Given the description of an element on the screen output the (x, y) to click on. 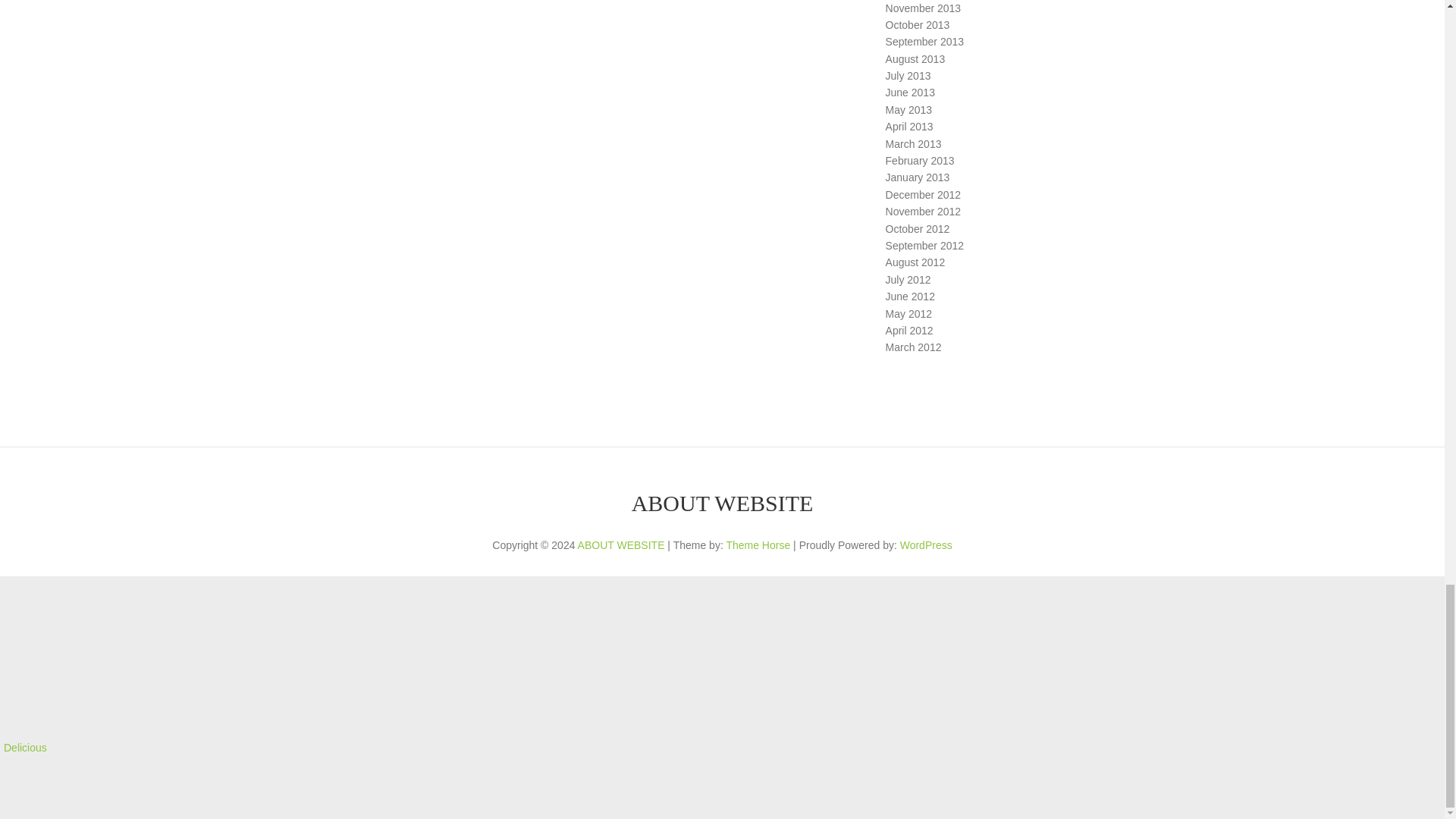
ABOUT WEBSITE (722, 503)
Theme Horse (757, 544)
ABOUT WEBSITE (621, 544)
